Given the description of an element on the screen output the (x, y) to click on. 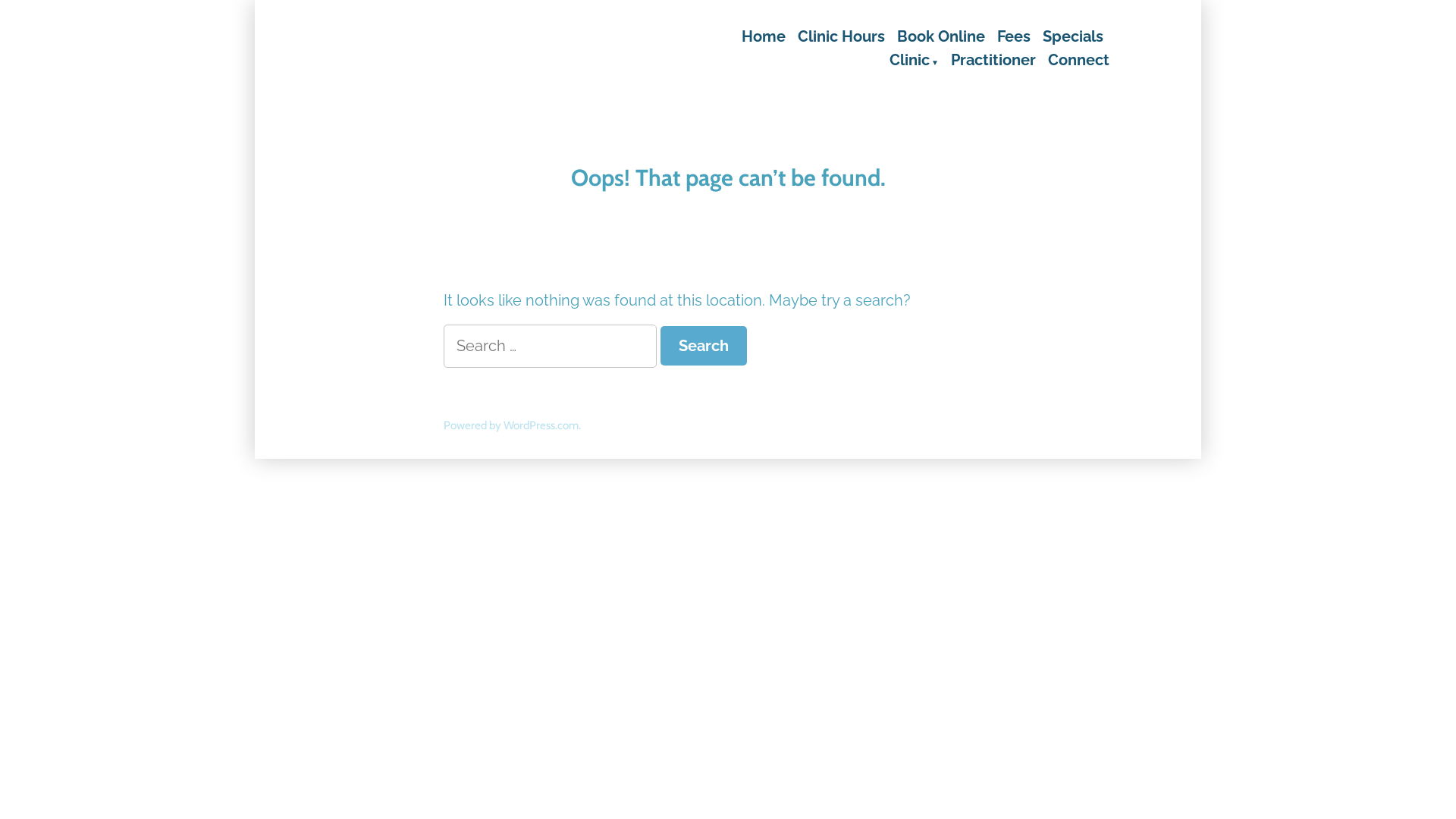
Book Online Element type: text (941, 35)
Clinic Element type: text (913, 61)
Powered by WordPress.com Element type: text (510, 424)
Home Element type: text (766, 35)
Search Element type: text (703, 345)
Clinic Hours Element type: text (841, 35)
Connect Element type: text (1075, 61)
Specials Element type: text (1072, 35)
Fees Element type: text (1013, 35)
Practitioner Element type: text (992, 61)
